Given the description of an element on the screen output the (x, y) to click on. 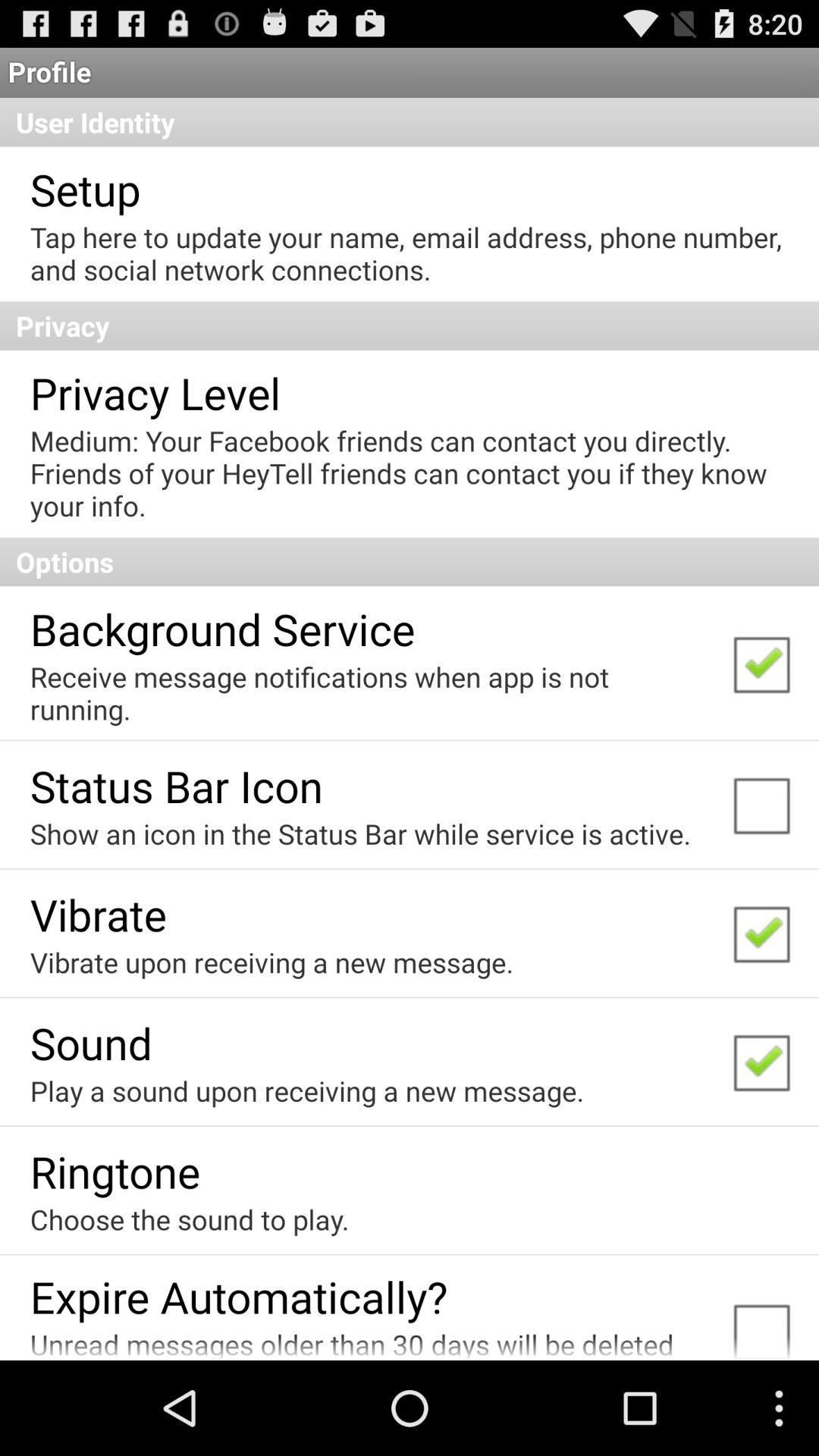
swipe to the privacy level item (155, 392)
